Given the description of an element on the screen output the (x, y) to click on. 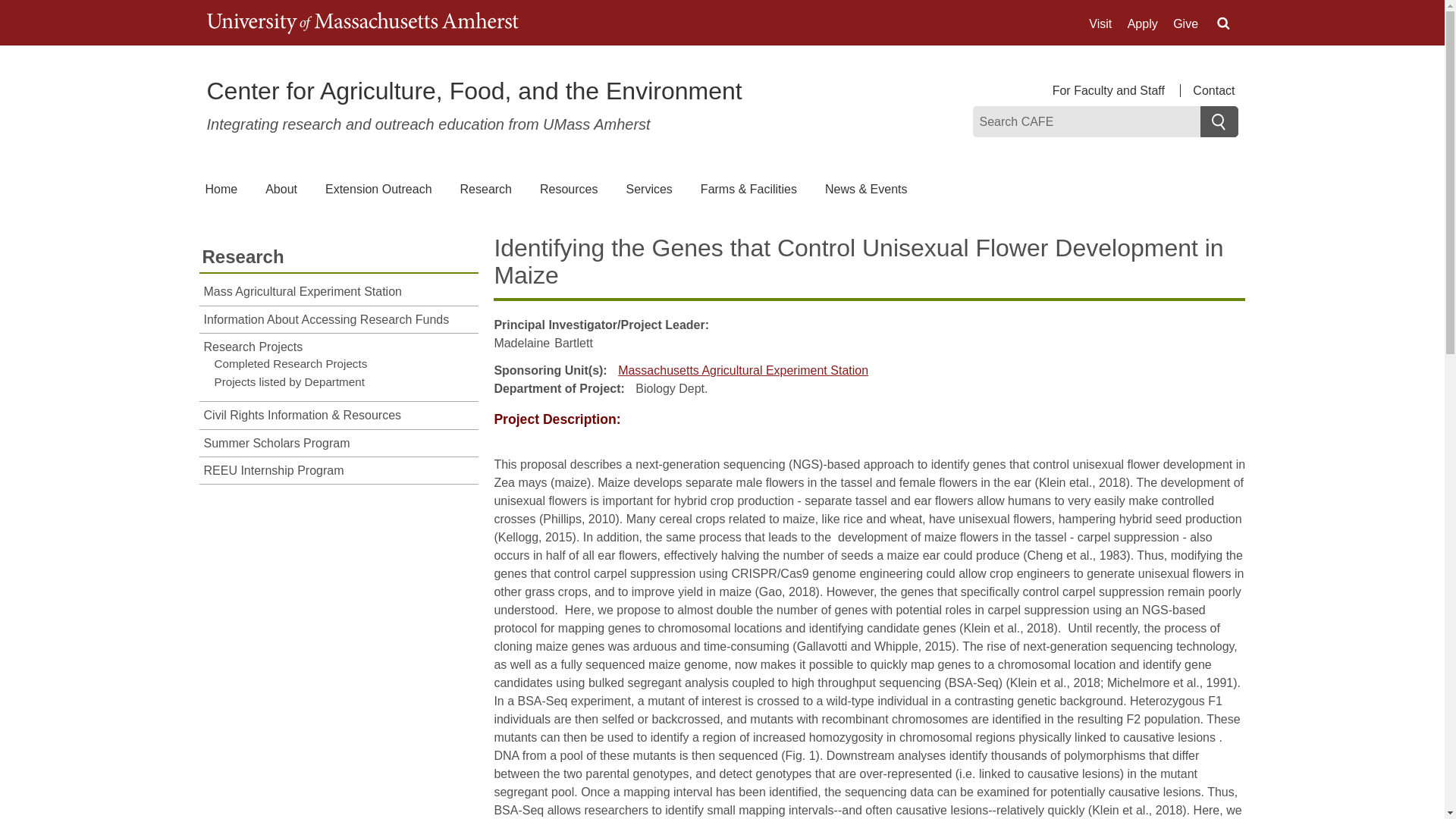
For Faculty and Staff (1116, 90)
Apply (1141, 24)
Search (1218, 121)
Contact Information (1208, 90)
Contact (1208, 90)
Home (473, 90)
Visit (1100, 24)
UMass Amherst (362, 22)
Search (1218, 121)
The University of Massachusetts Amherst (362, 22)
Give (1185, 24)
Search UMass.edu (1221, 23)
Center for Agriculture, Food, and the Environment (473, 90)
